Given the description of an element on the screen output the (x, y) to click on. 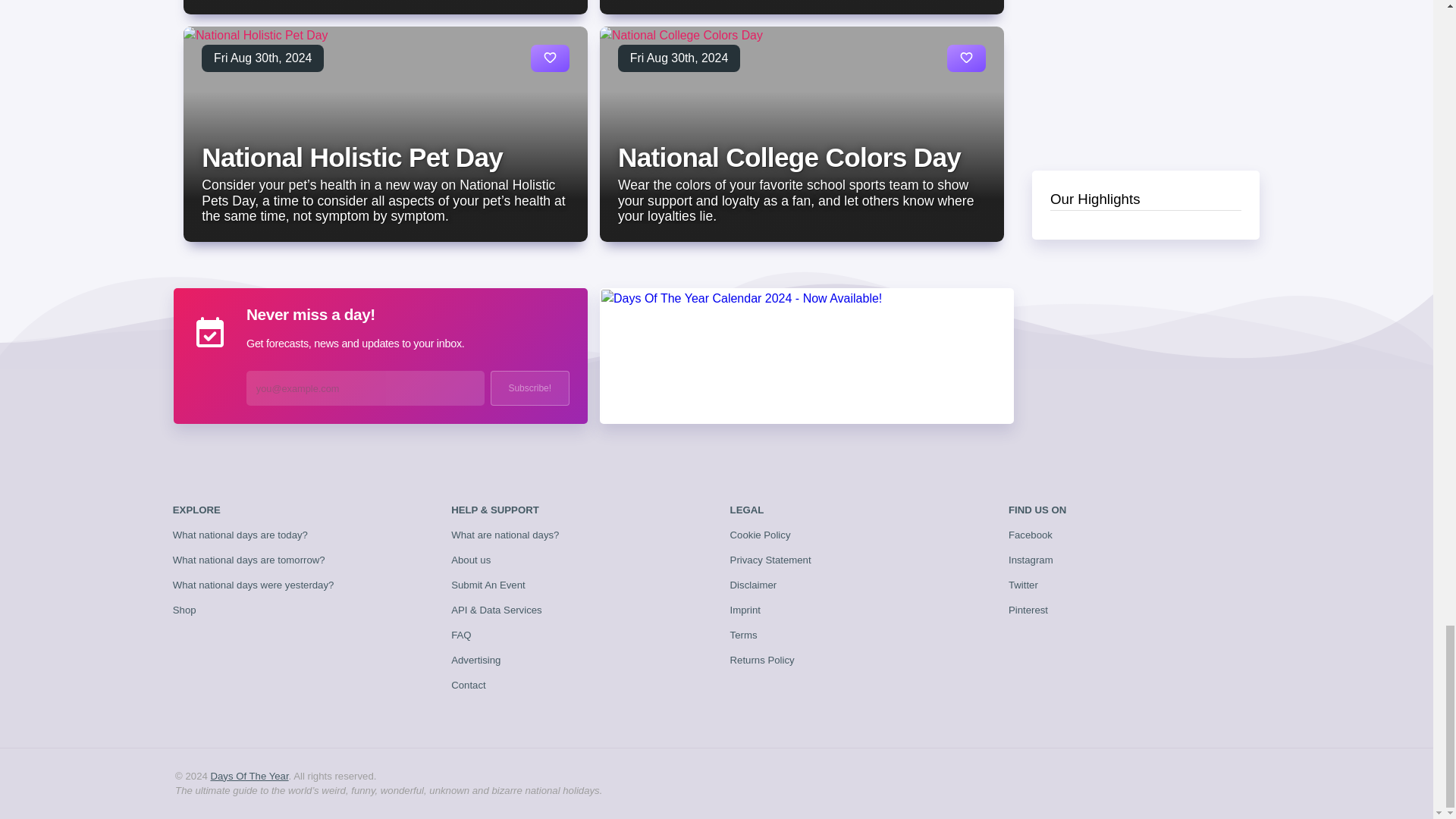
Instagram (1030, 559)
What national days are today? (240, 534)
Subscribe! (529, 388)
About us (470, 559)
What are national days? (505, 534)
What national days were yesterday? (253, 584)
Pinterest (1028, 609)
National College Colors Day (788, 156)
Facebook (1030, 534)
FAQ (460, 634)
Subscribe! (529, 388)
National Holistic Pet Day (352, 156)
Twitter (1023, 584)
Shop (184, 609)
What national days are tomorrow? (248, 559)
